Given the description of an element on the screen output the (x, y) to click on. 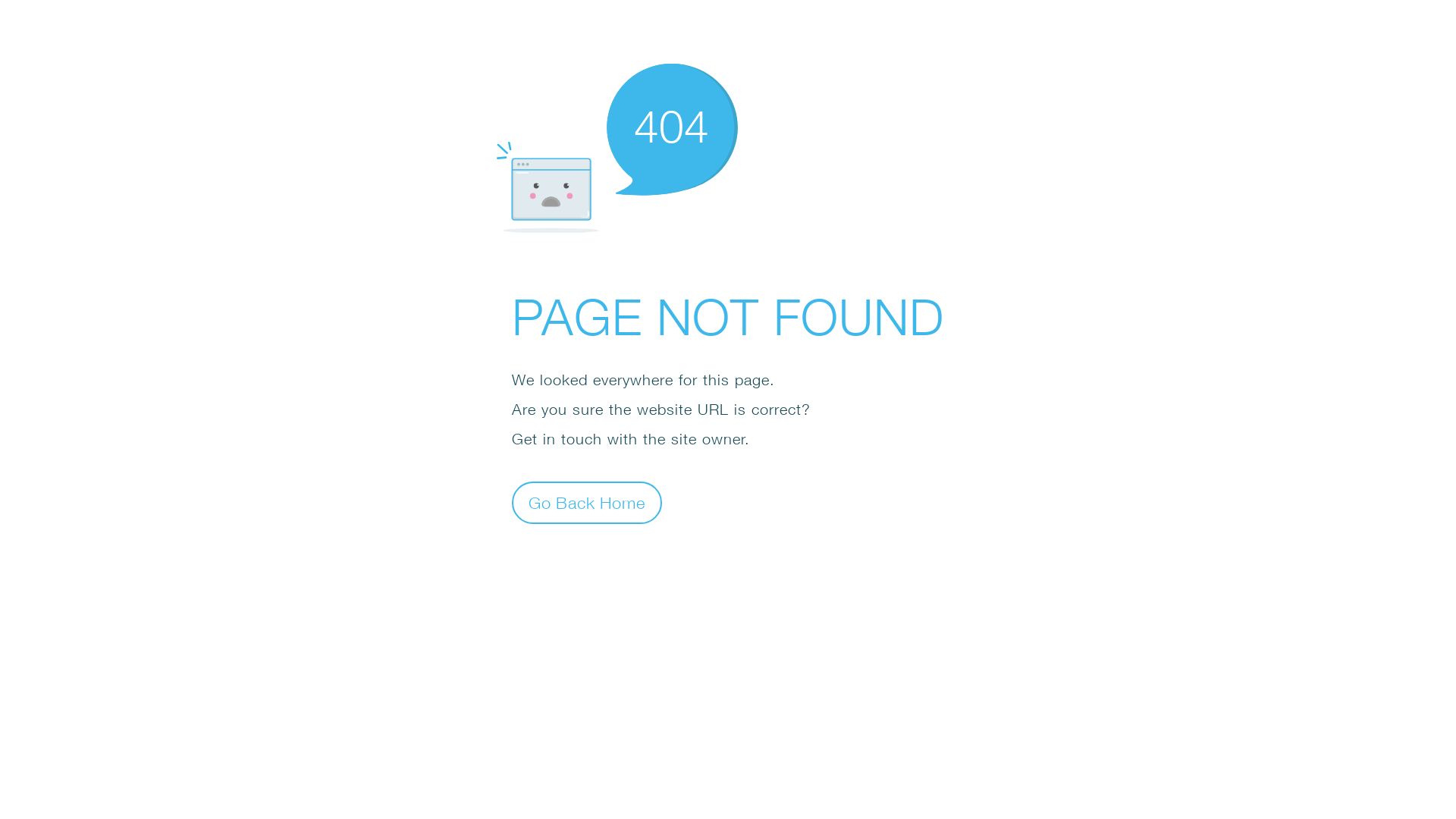
Go Back Home Element type: text (586, 502)
